Given the description of an element on the screen output the (x, y) to click on. 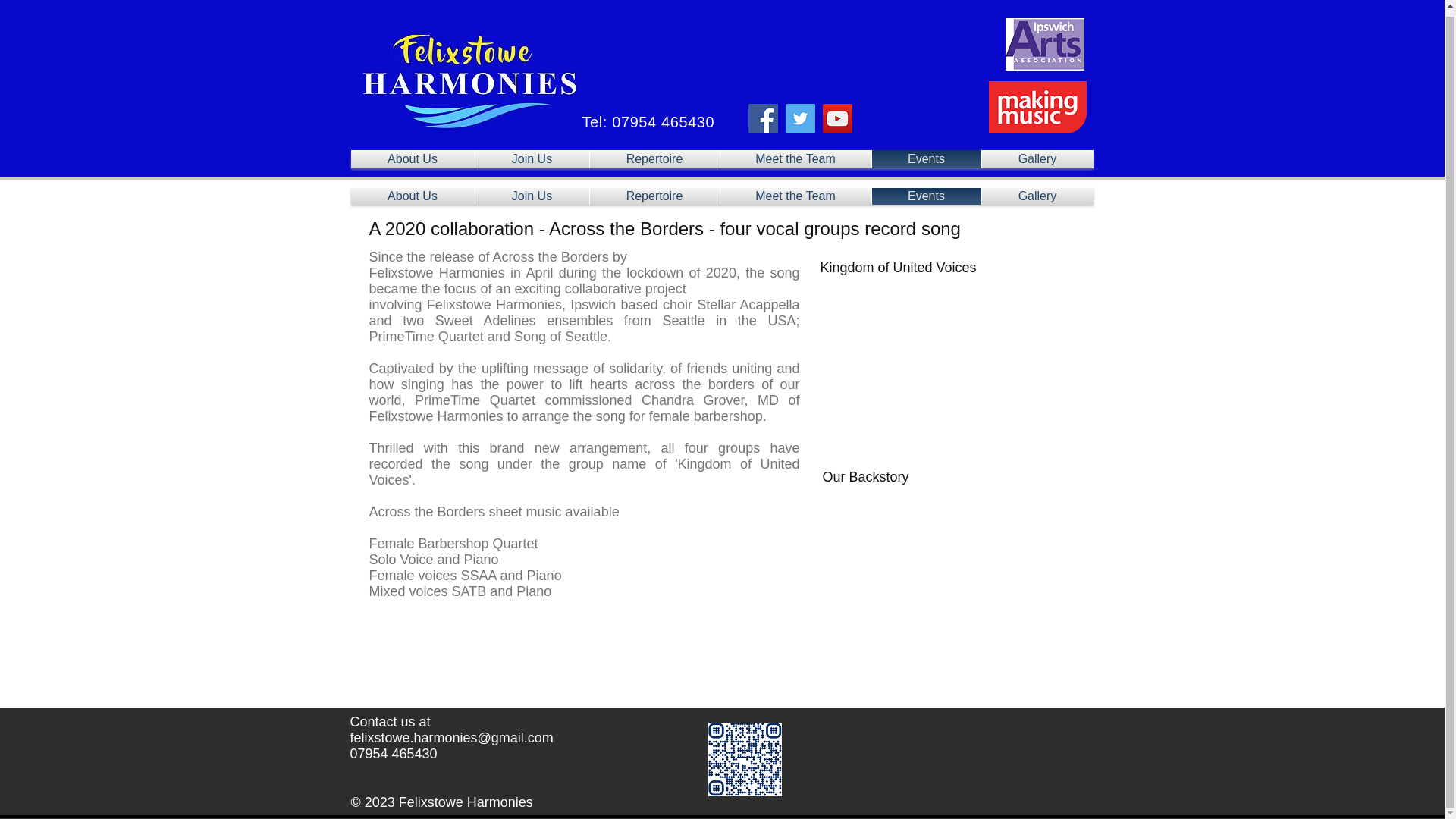
Events (926, 196)
About Us (412, 158)
Gallery (1037, 196)
About Us (412, 196)
Female Barbershop Quartet (452, 543)
Female voices SSAA and Piano (464, 575)
Meet the Team (795, 158)
Join Us (531, 158)
Join Us (531, 196)
Repertoire (654, 196)
